Given the description of an element on the screen output the (x, y) to click on. 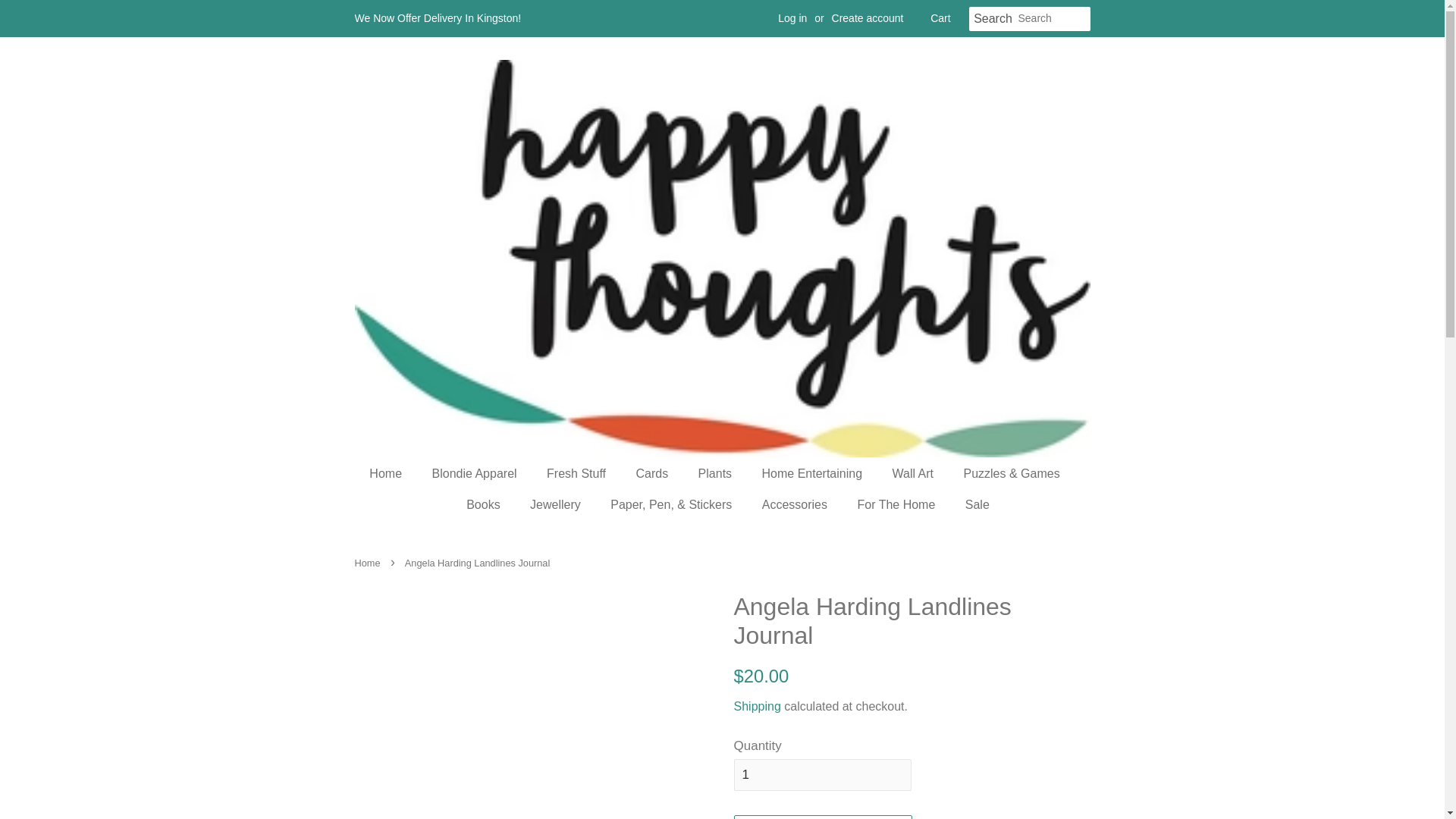
Cart (940, 18)
Back to the frontpage (369, 562)
We Now Offer Delivery In Kingston! (438, 18)
1 (822, 775)
Search (993, 18)
Create account (867, 18)
Log in (791, 18)
